Given the description of an element on the screen output the (x, y) to click on. 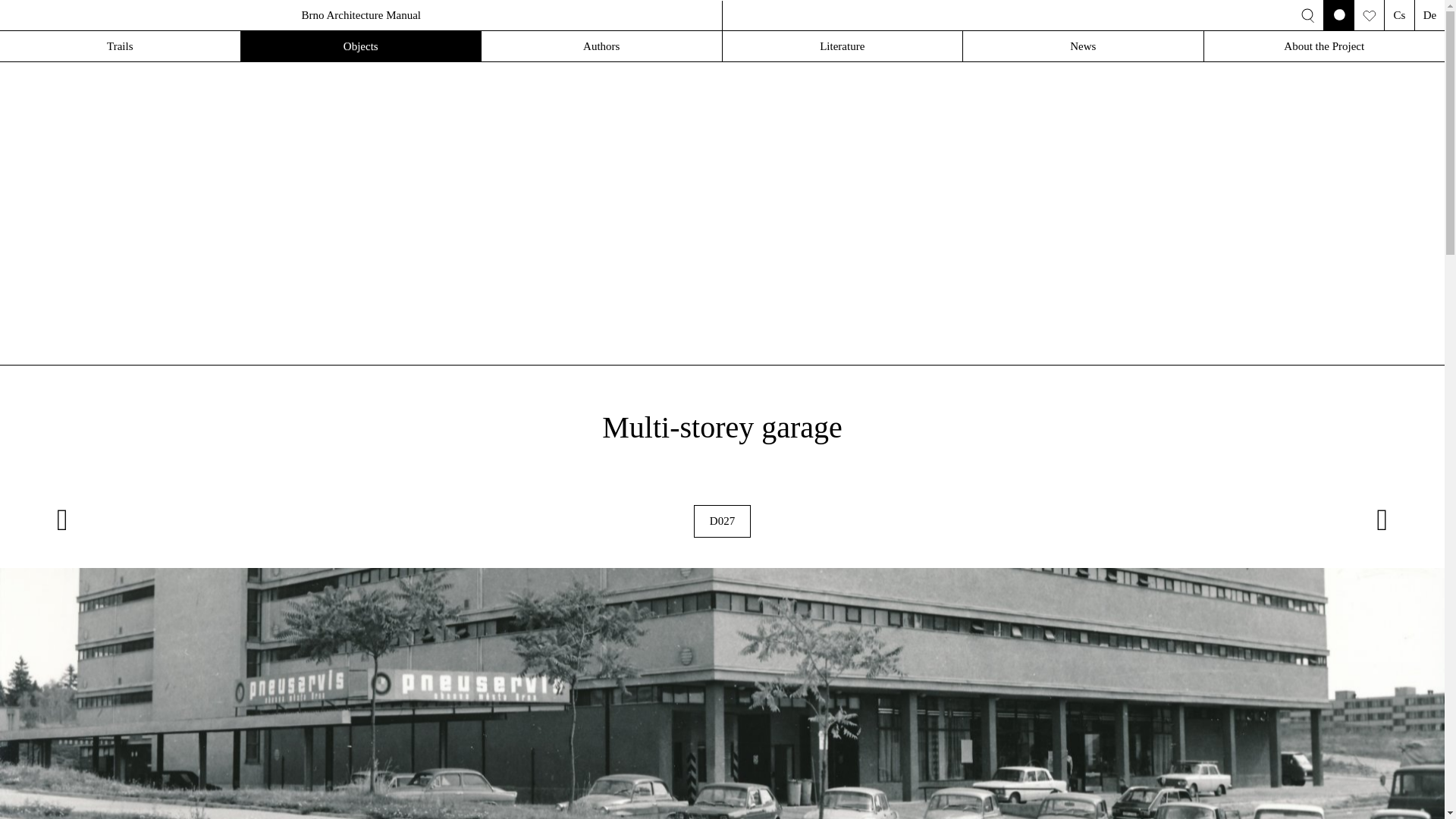
News (1083, 46)
Brno Architecture Manual (361, 15)
Cs (1398, 15)
Objects (361, 46)
Trails (120, 46)
Literature (842, 46)
Authors (601, 46)
